Given the description of an element on the screen output the (x, y) to click on. 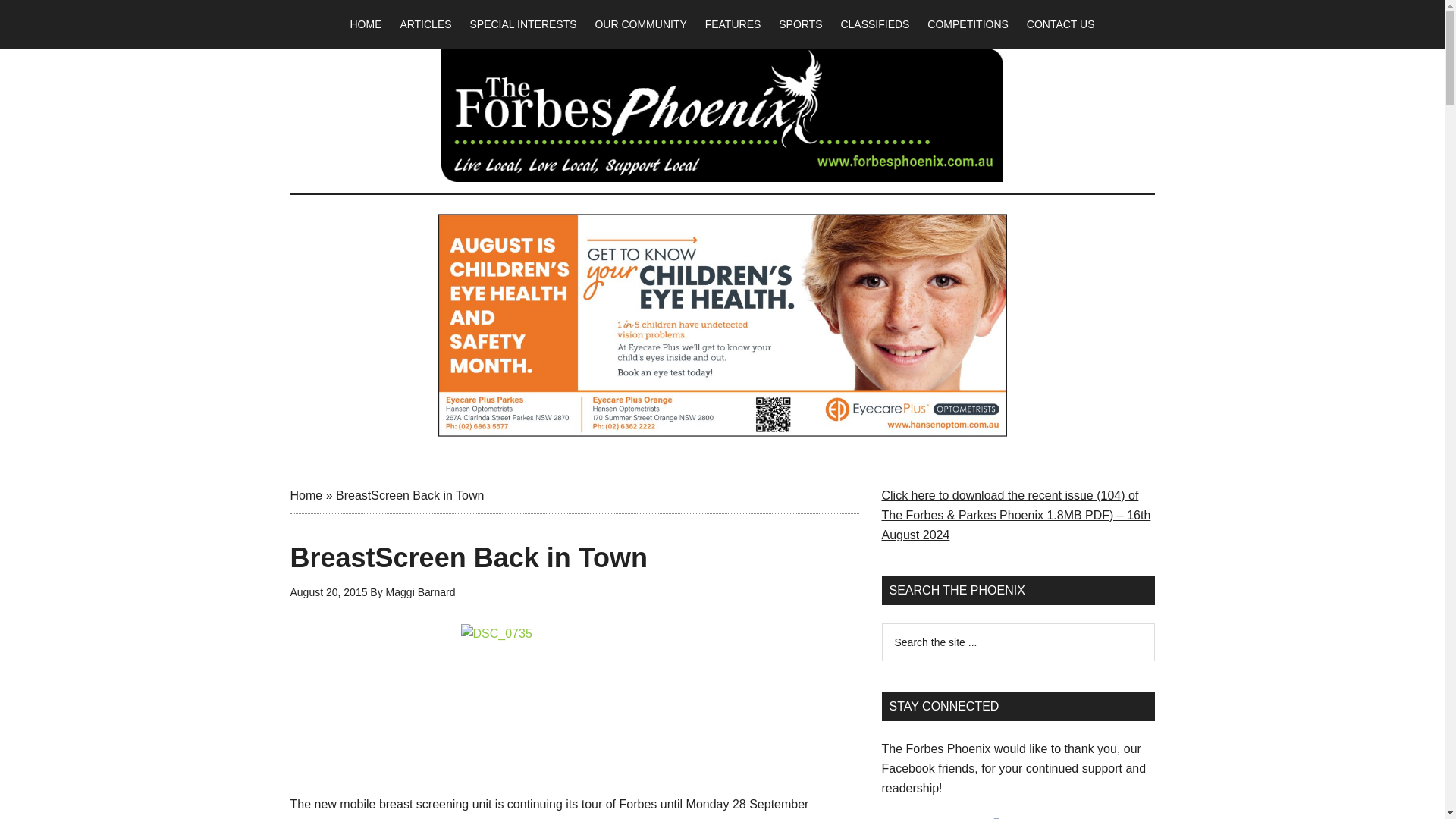
CONTACT US (1060, 24)
SPORTS (800, 24)
OUR COMMUNITY (640, 24)
CLASSIFIEDS (874, 24)
SPECIAL INTERESTS (522, 24)
ARTICLES (424, 24)
COMPETITIONS (968, 24)
FEATURES (732, 24)
